Given the description of an element on the screen output the (x, y) to click on. 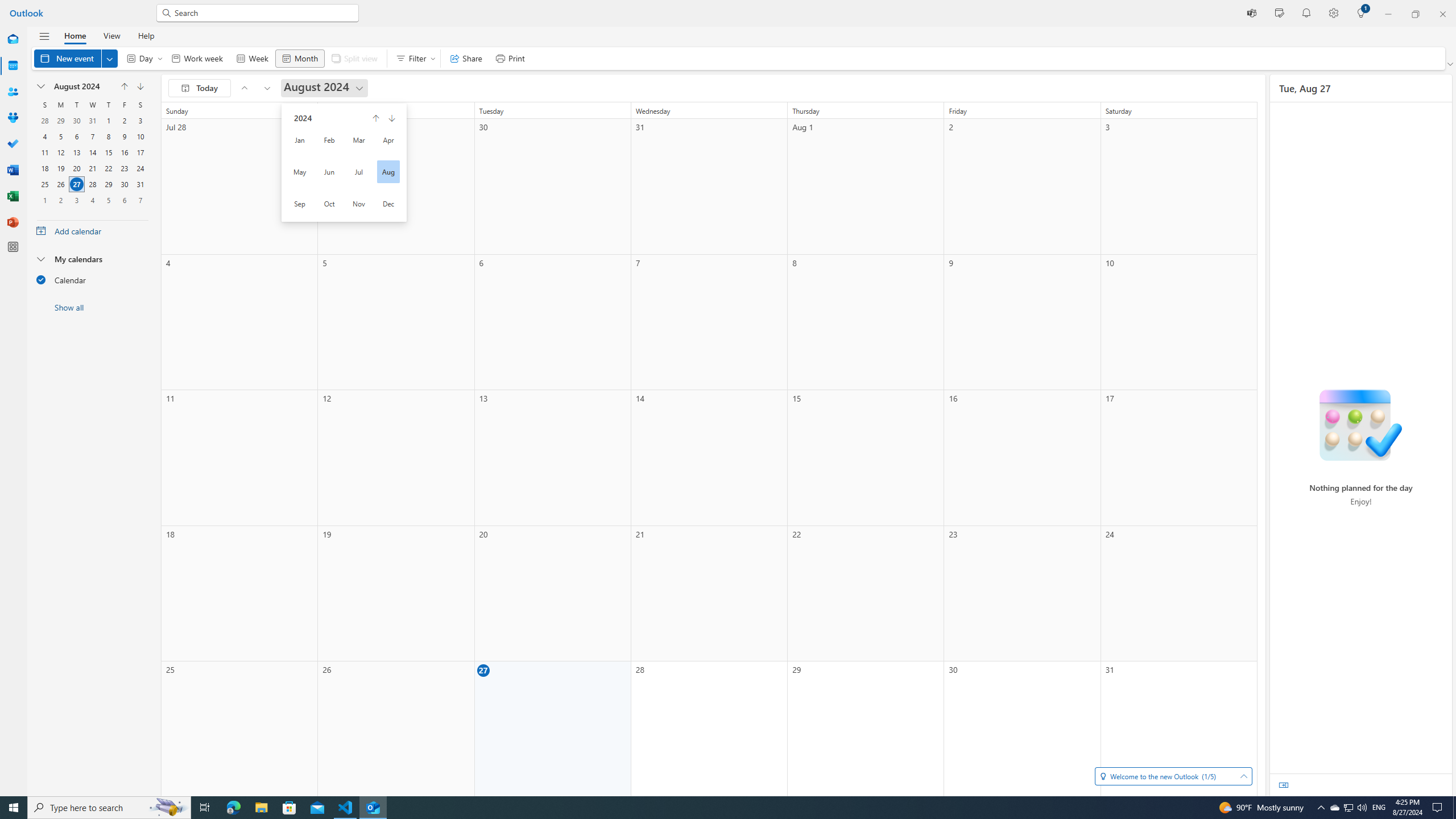
7, August, 2024 (92, 136)
19, August, 2024 (59, 168)
30, August, 2024 (124, 183)
29, July, 2024 (59, 120)
31, July, 2024 (92, 120)
To Do (12, 143)
30, July, 2024 (75, 120)
Outlook (new) - 1 running window (373, 807)
17, August, 2024 (140, 152)
11, August, 2024 (44, 151)
Ribbon display options (1450, 63)
Go to next month September 2024 (266, 88)
18, August, 2024 (44, 168)
